Given the description of an element on the screen output the (x, y) to click on. 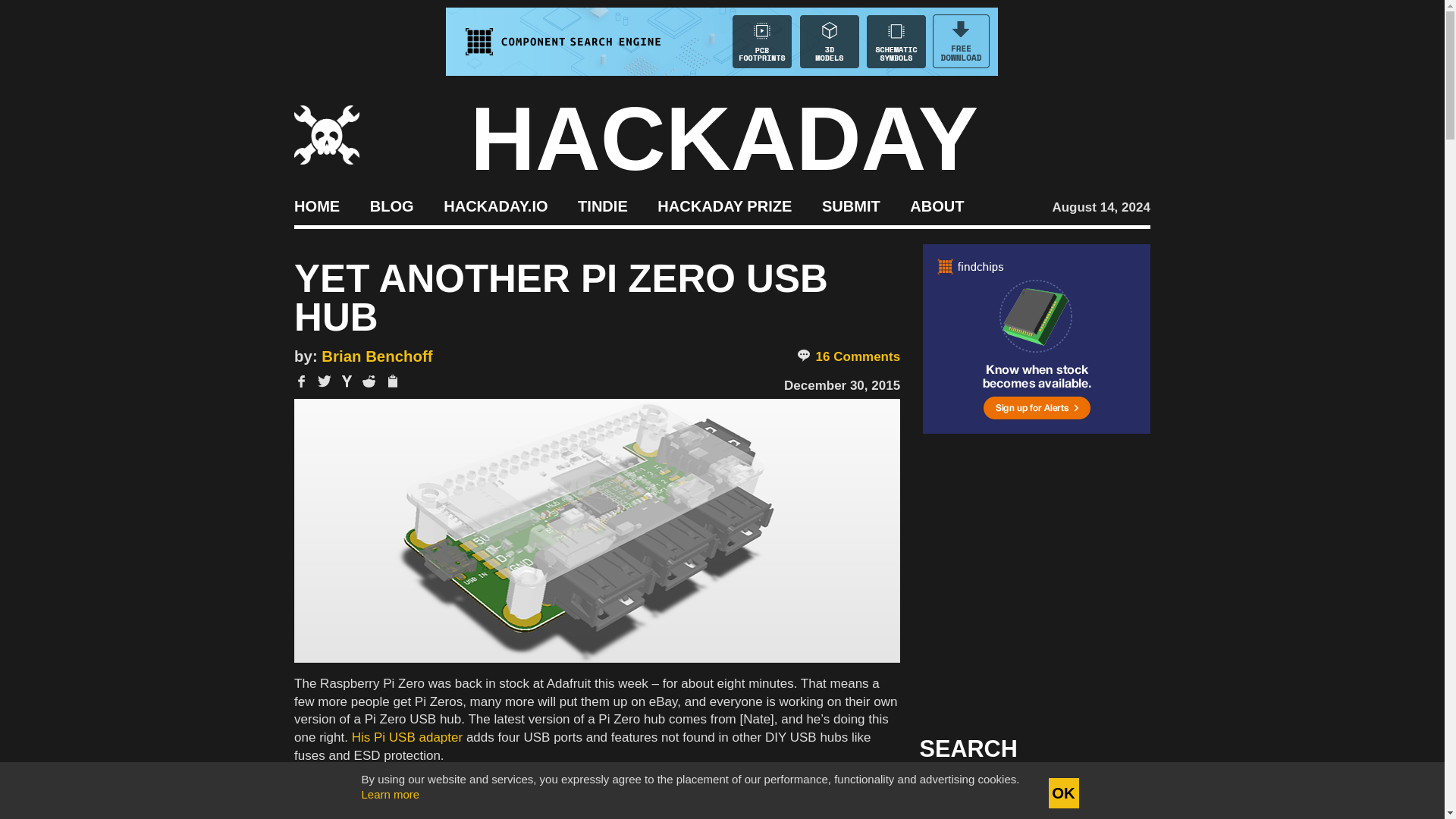
Share on Facebook (301, 381)
Copy title or shortlink (391, 381)
Posts by Brian Benchoff (376, 356)
Brian Benchoff (376, 356)
HOME (316, 205)
16 Comments (847, 356)
December 30, 2015 - 4:00 pm (841, 385)
HACKADAY.IO (495, 205)
Share on Reddit (369, 381)
Search (1115, 792)
